Given the description of an element on the screen output the (x, y) to click on. 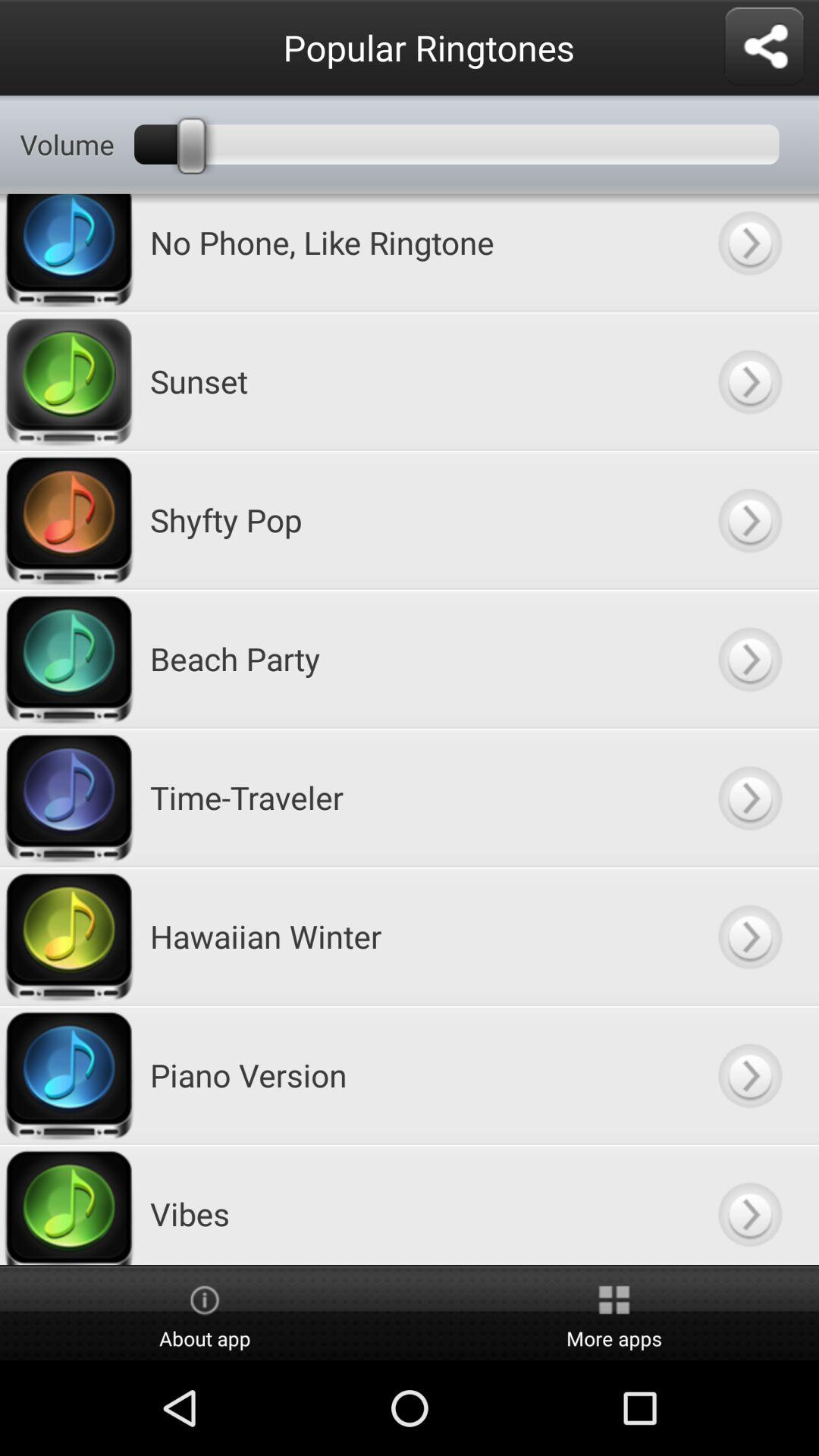
beach party option (749, 658)
